Given the description of an element on the screen output the (x, y) to click on. 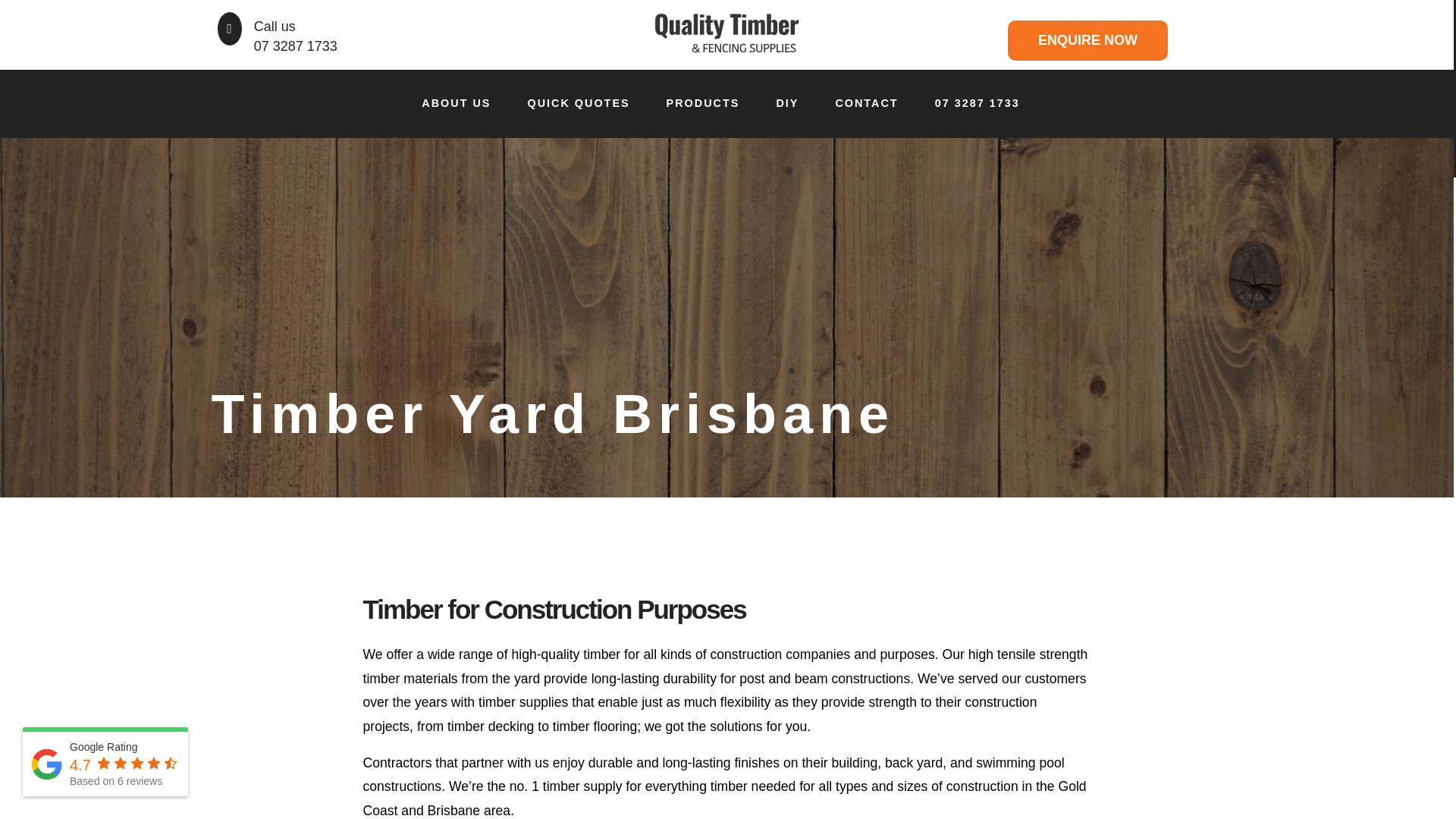
07 3287 1733 (295, 45)
07 3287 1733 (977, 103)
PRODUCTS (702, 103)
DIY (786, 103)
ENQUIRE NOW (1087, 40)
ABOUT US (455, 103)
QUICK QUOTES (578, 103)
CONTACT (866, 103)
